Given the description of an element on the screen output the (x, y) to click on. 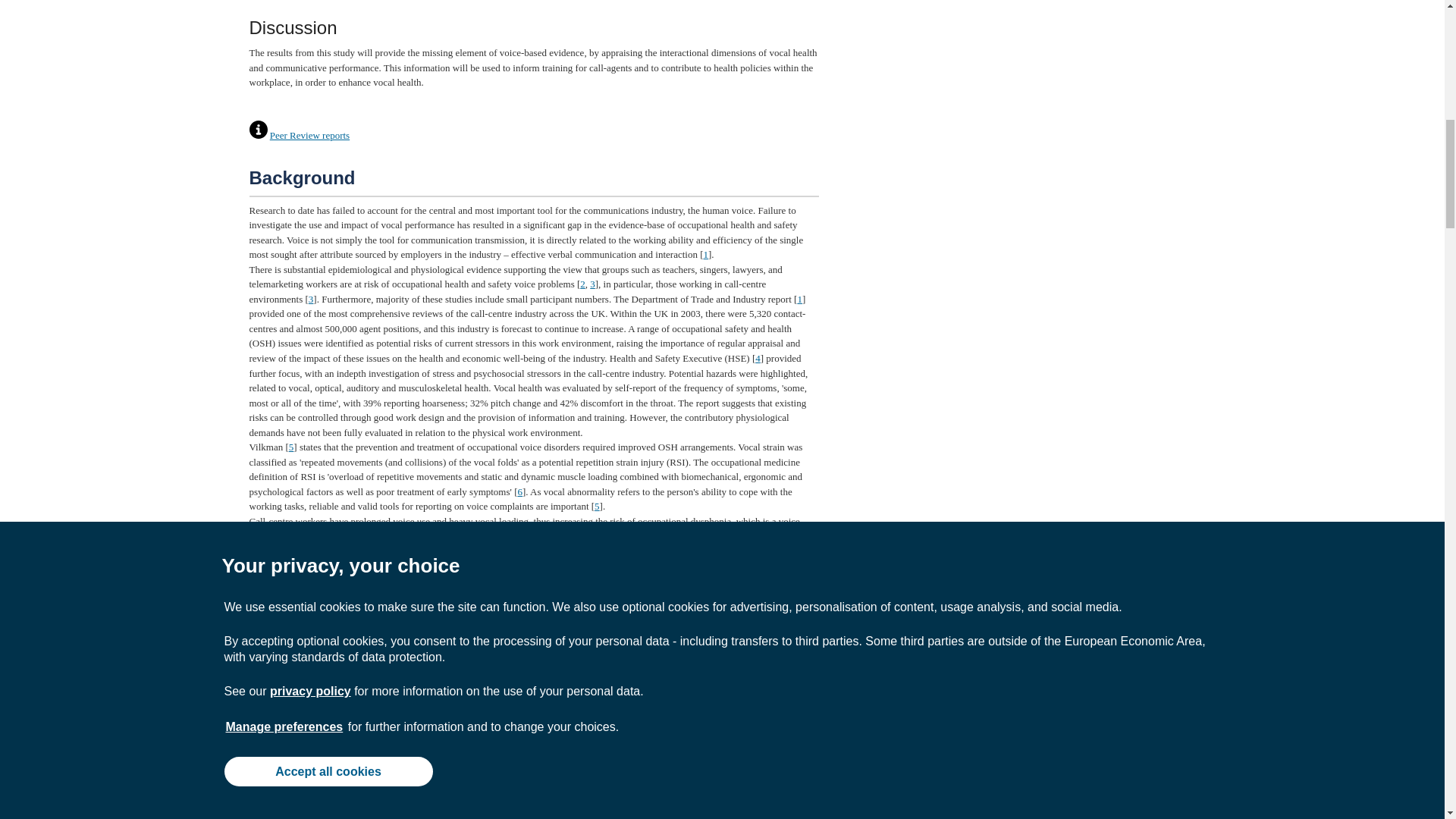
Peer Review reports (309, 134)
